Given the description of an element on the screen output the (x, y) to click on. 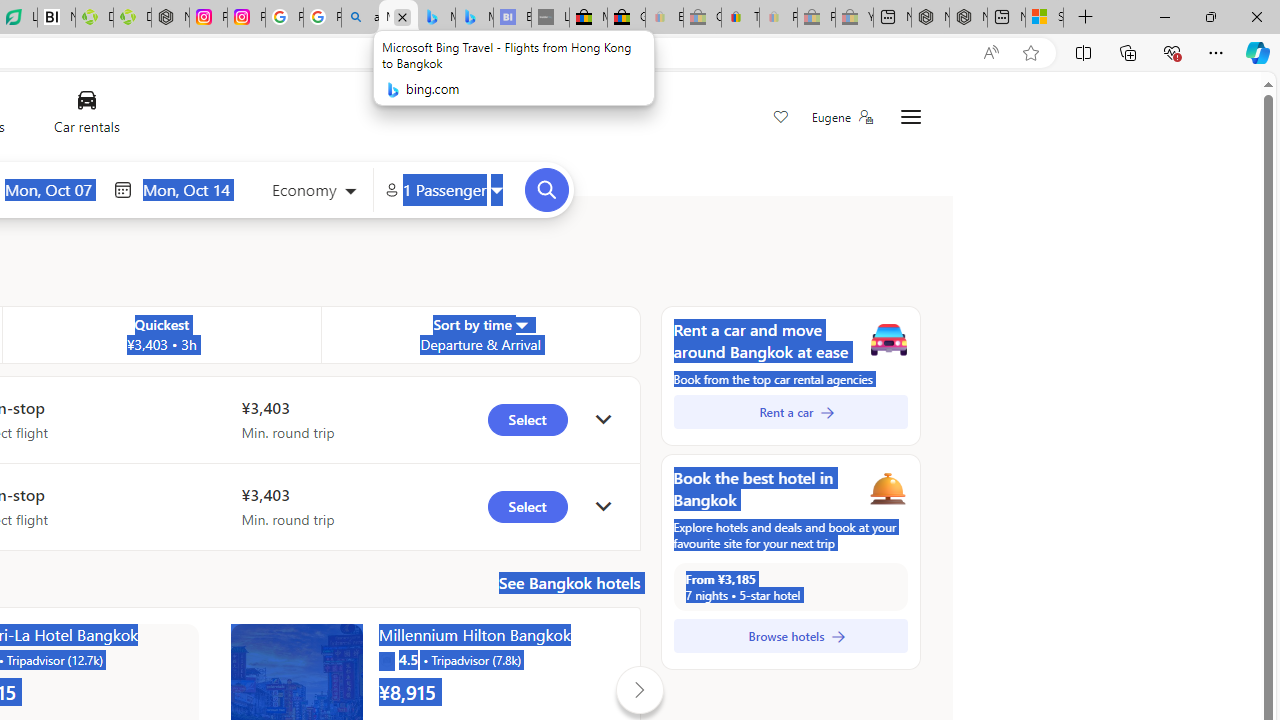
Eugene (841, 117)
Sorter (520, 324)
